Given the description of an element on the screen output the (x, y) to click on. 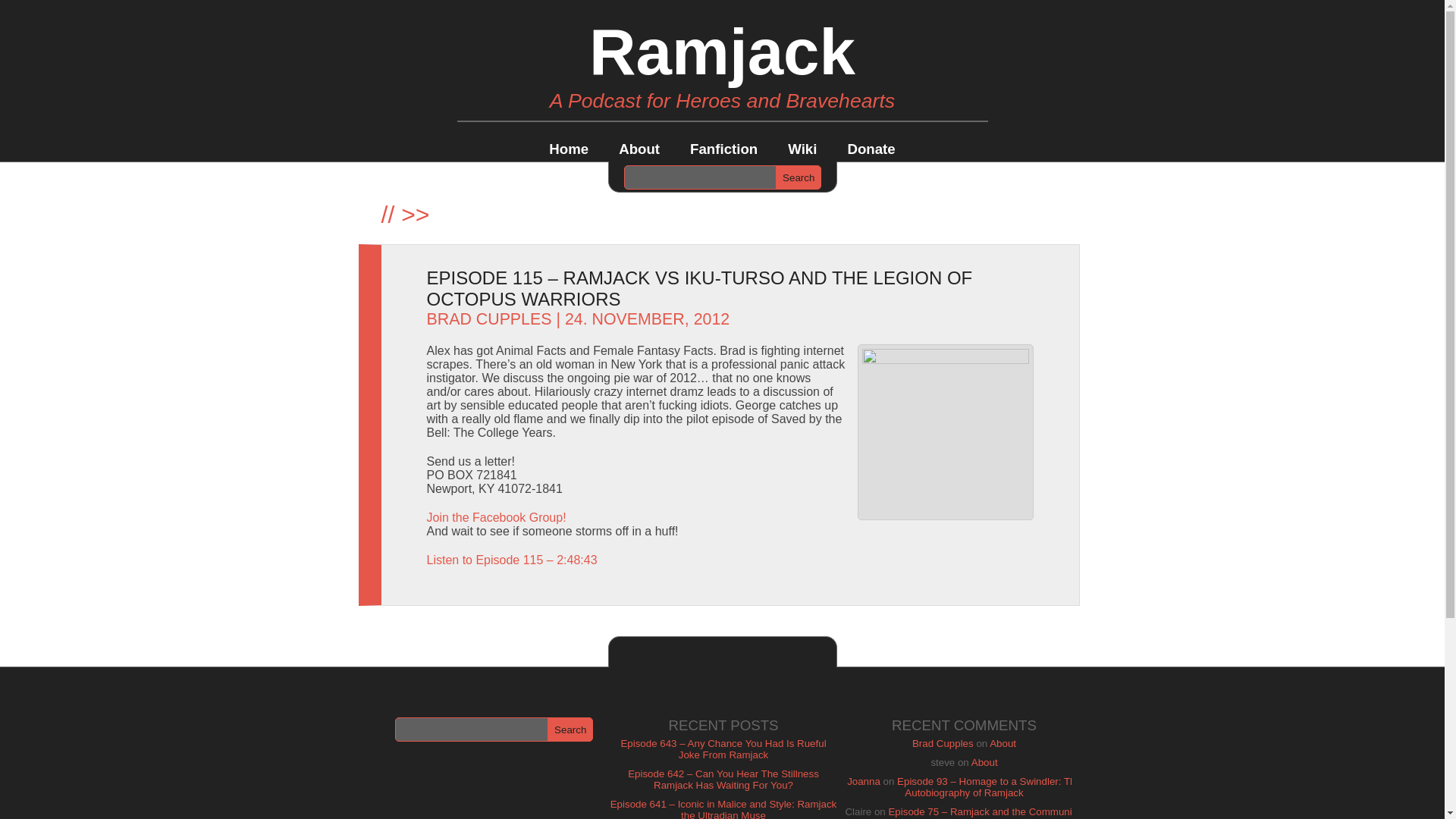
Brad Cupples (943, 743)
Search (798, 177)
Donate (871, 148)
BRAD CUPPLES (488, 319)
About (984, 762)
Search (569, 729)
Joanna (863, 781)
Search (569, 729)
Posts by Brad Cupples (488, 319)
Wiki (801, 148)
Fanfiction (723, 148)
Search (798, 177)
About (1003, 743)
About (638, 148)
